Given the description of an element on the screen output the (x, y) to click on. 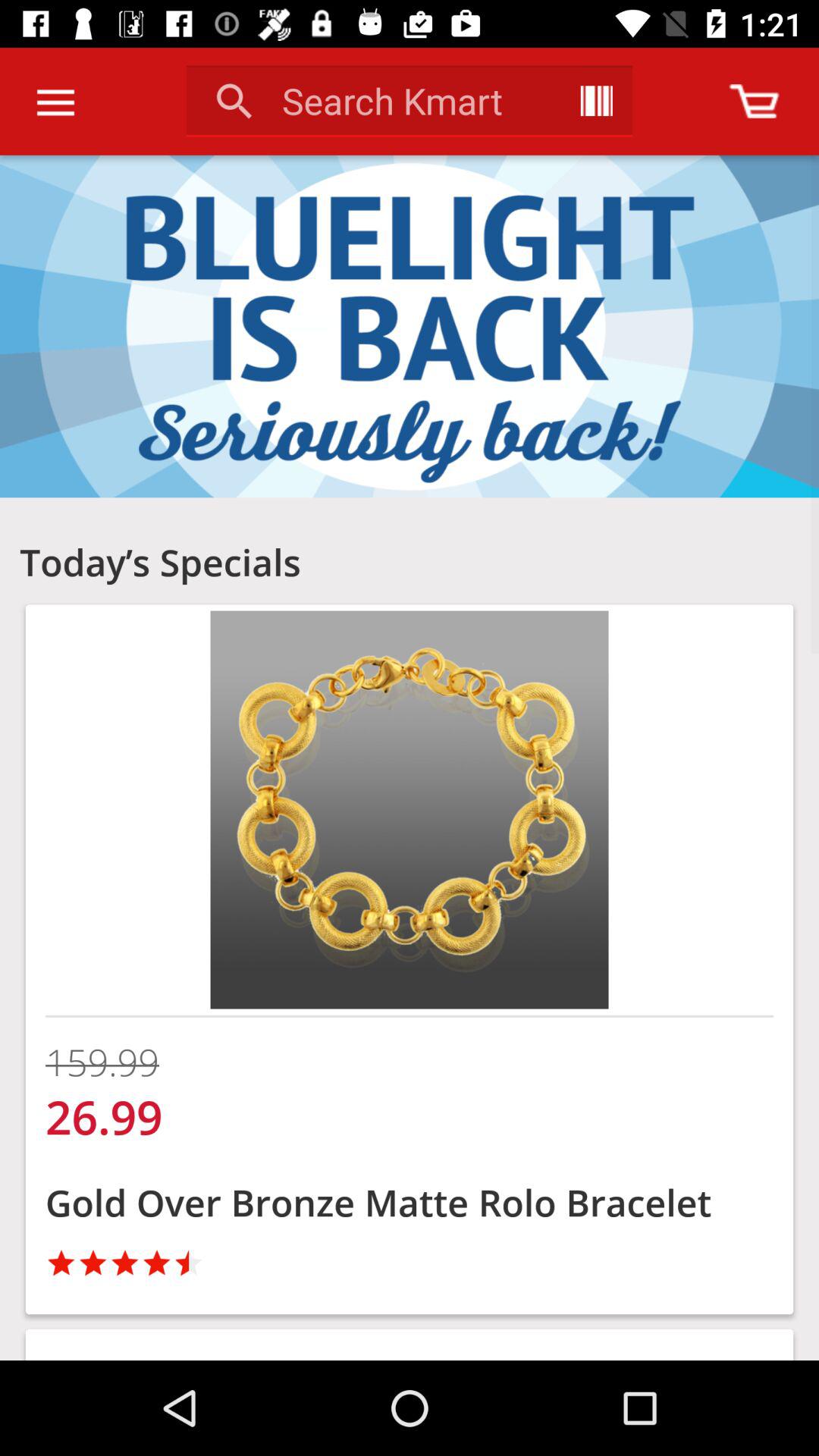
scan barcode (596, 100)
